Given the description of an element on the screen output the (x, y) to click on. 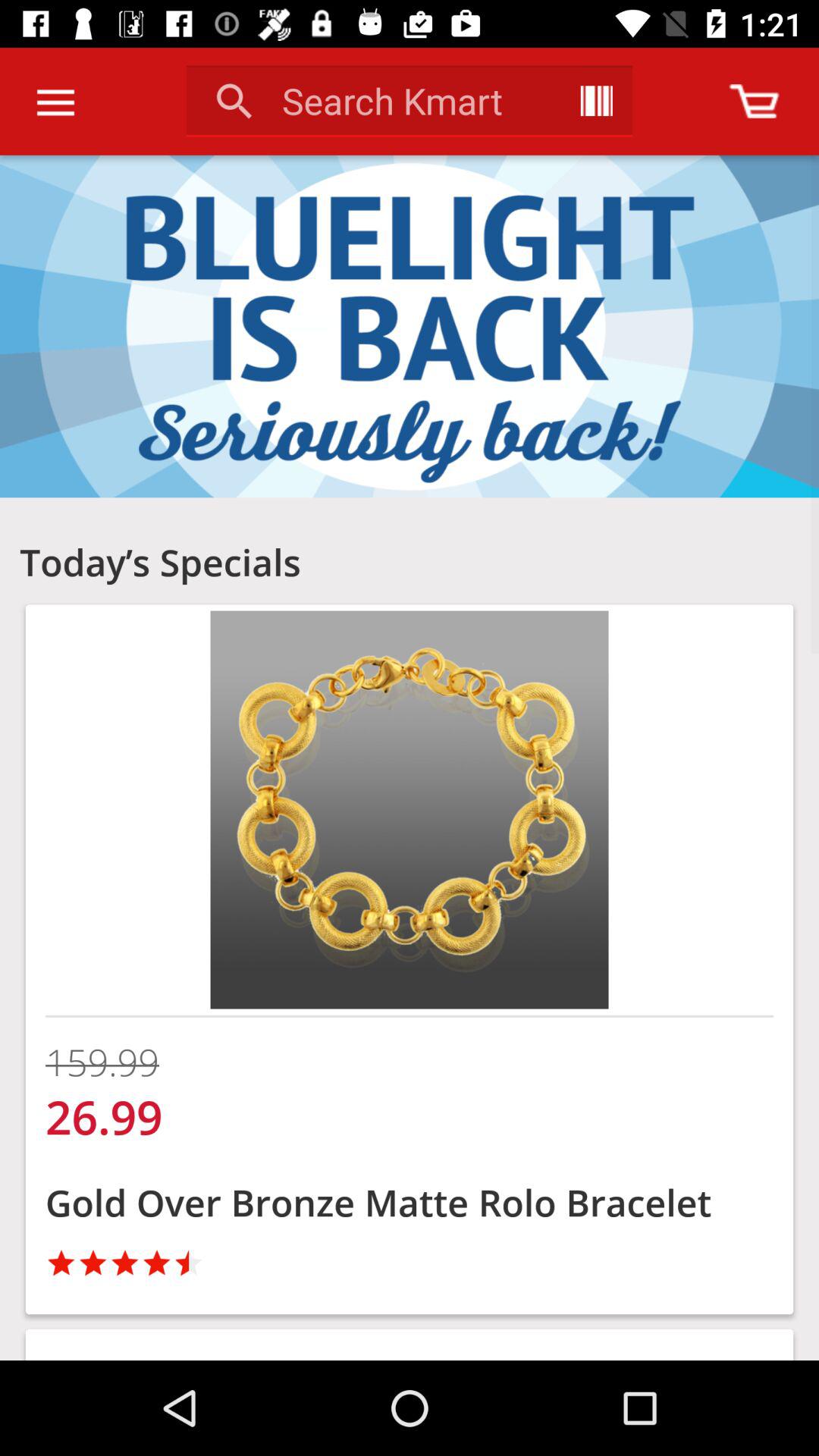
scan barcode (596, 100)
